Given the description of an element on the screen output the (x, y) to click on. 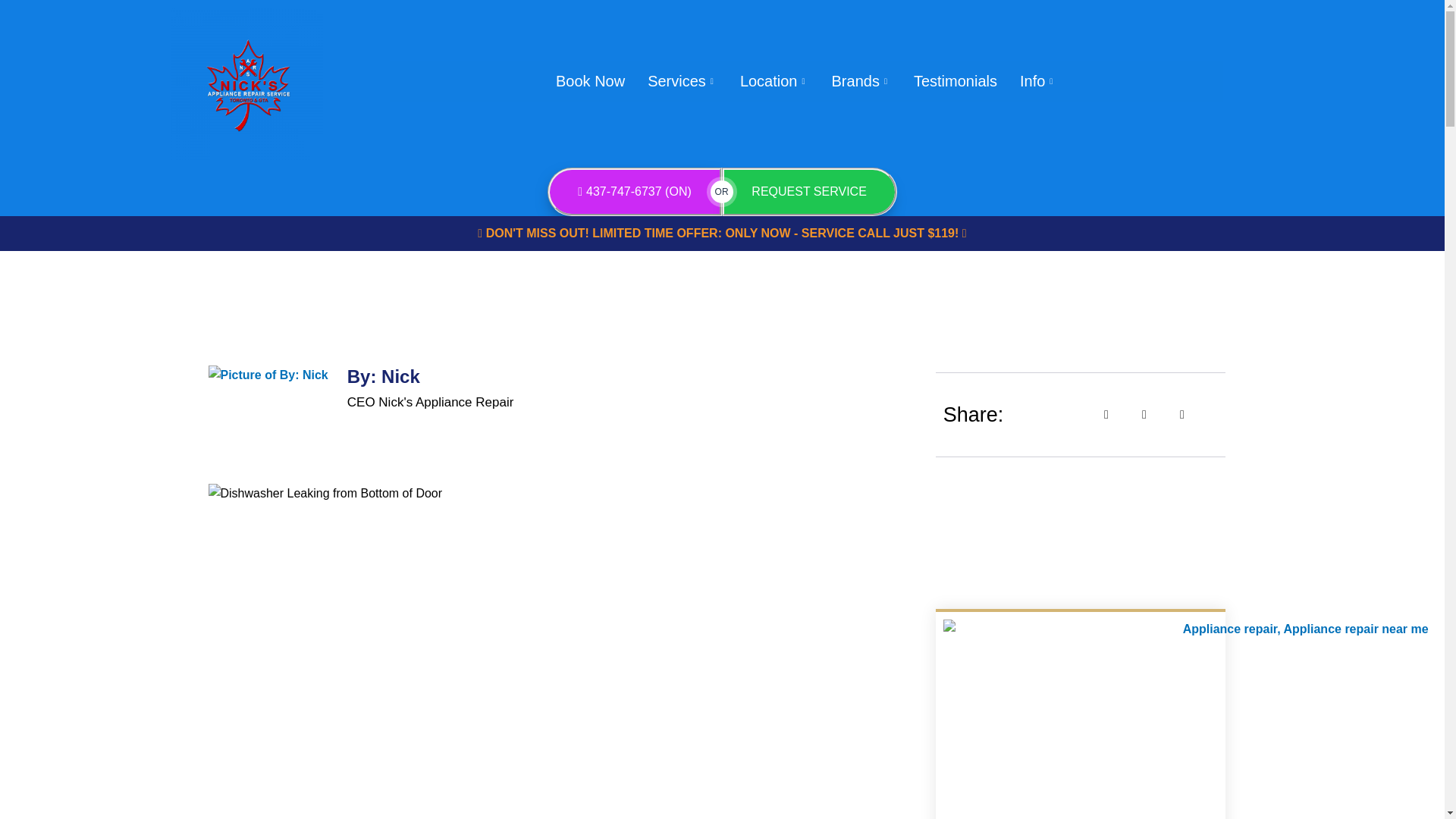
Services (682, 81)
Book Now (590, 81)
Location (775, 81)
